Given the description of an element on the screen output the (x, y) to click on. 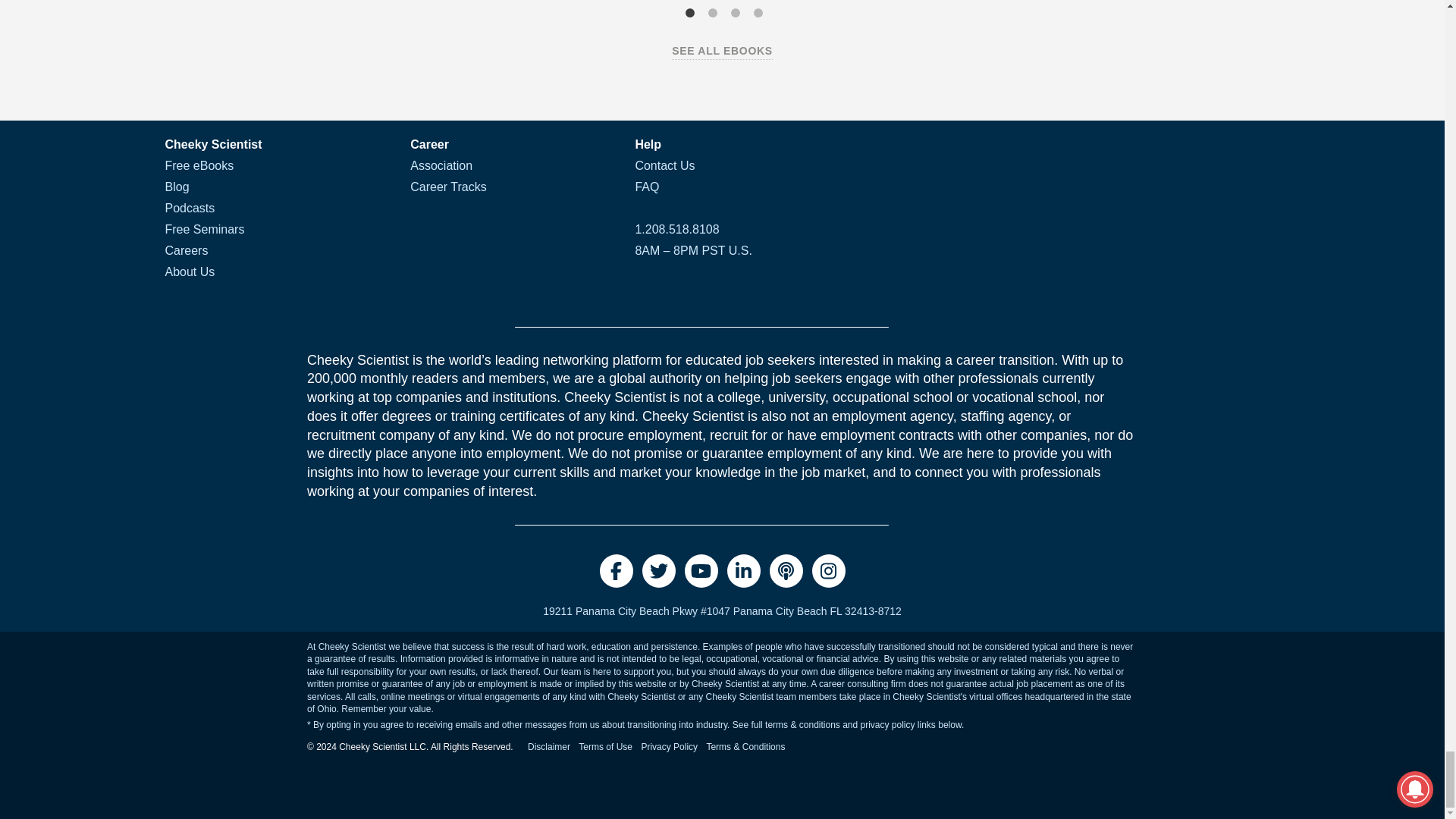
Cheeky Scientist on Instagram (827, 571)
Cheeky Scientist on Facebook (614, 571)
Cheeky Scientist on Youtube (700, 571)
Cheeky Scientist on Twitter (658, 571)
Cheeky Scientist on LinkedIn (743, 571)
